Given the description of an element on the screen output the (x, y) to click on. 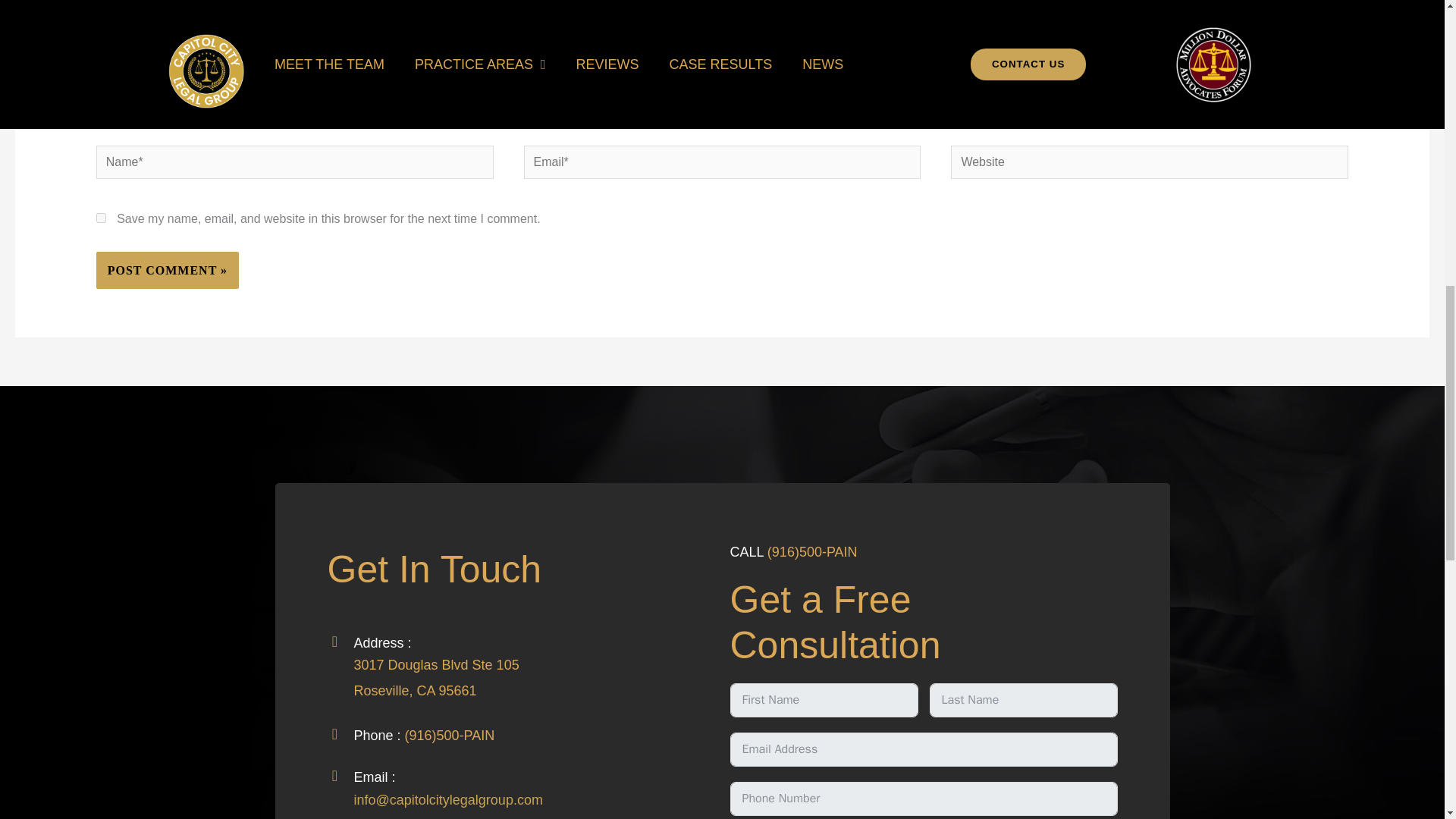
yes (101, 217)
